Given the description of an element on the screen output the (x, y) to click on. 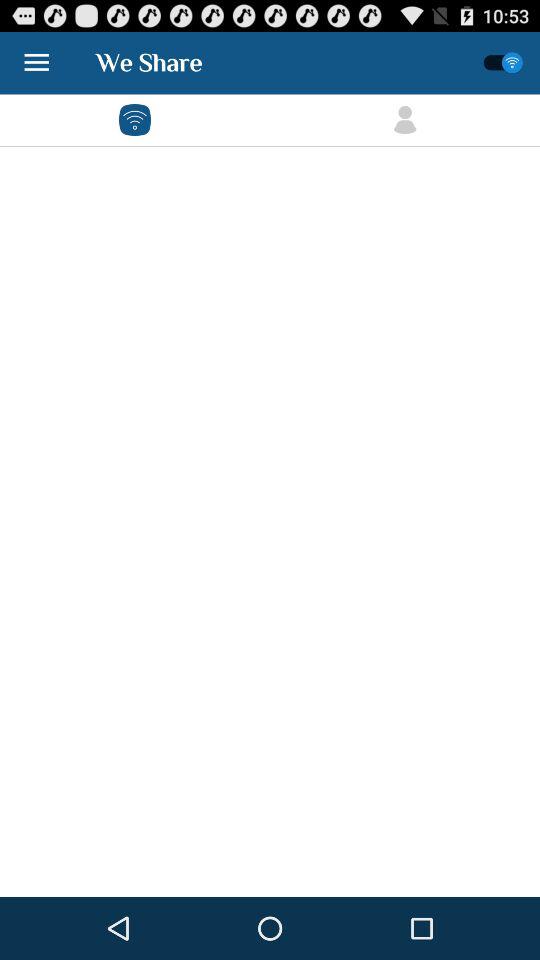
the text written at top left of the page (149, 62)
select the wifi option (134, 119)
